Given the description of an element on the screen output the (x, y) to click on. 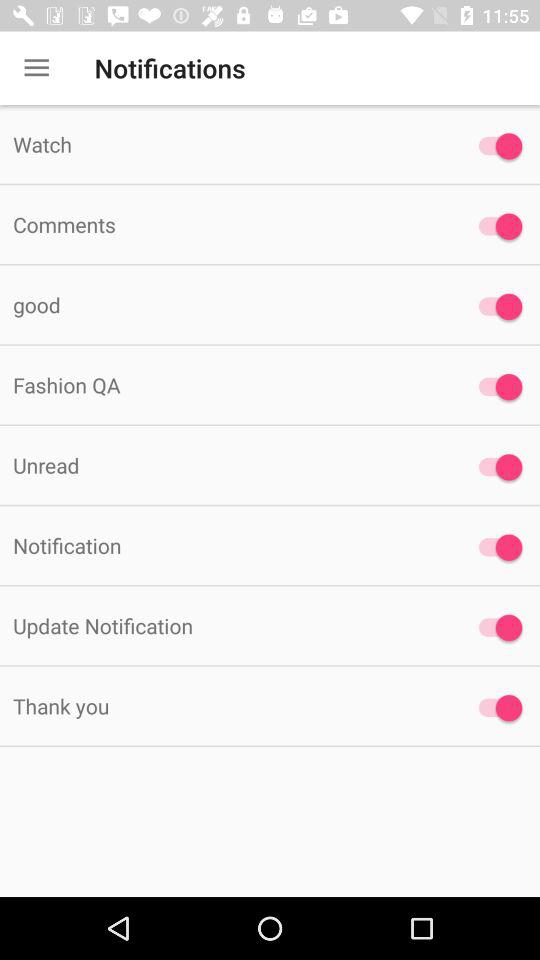
ativar/desativar esta funo (495, 708)
